Given the description of an element on the screen output the (x, y) to click on. 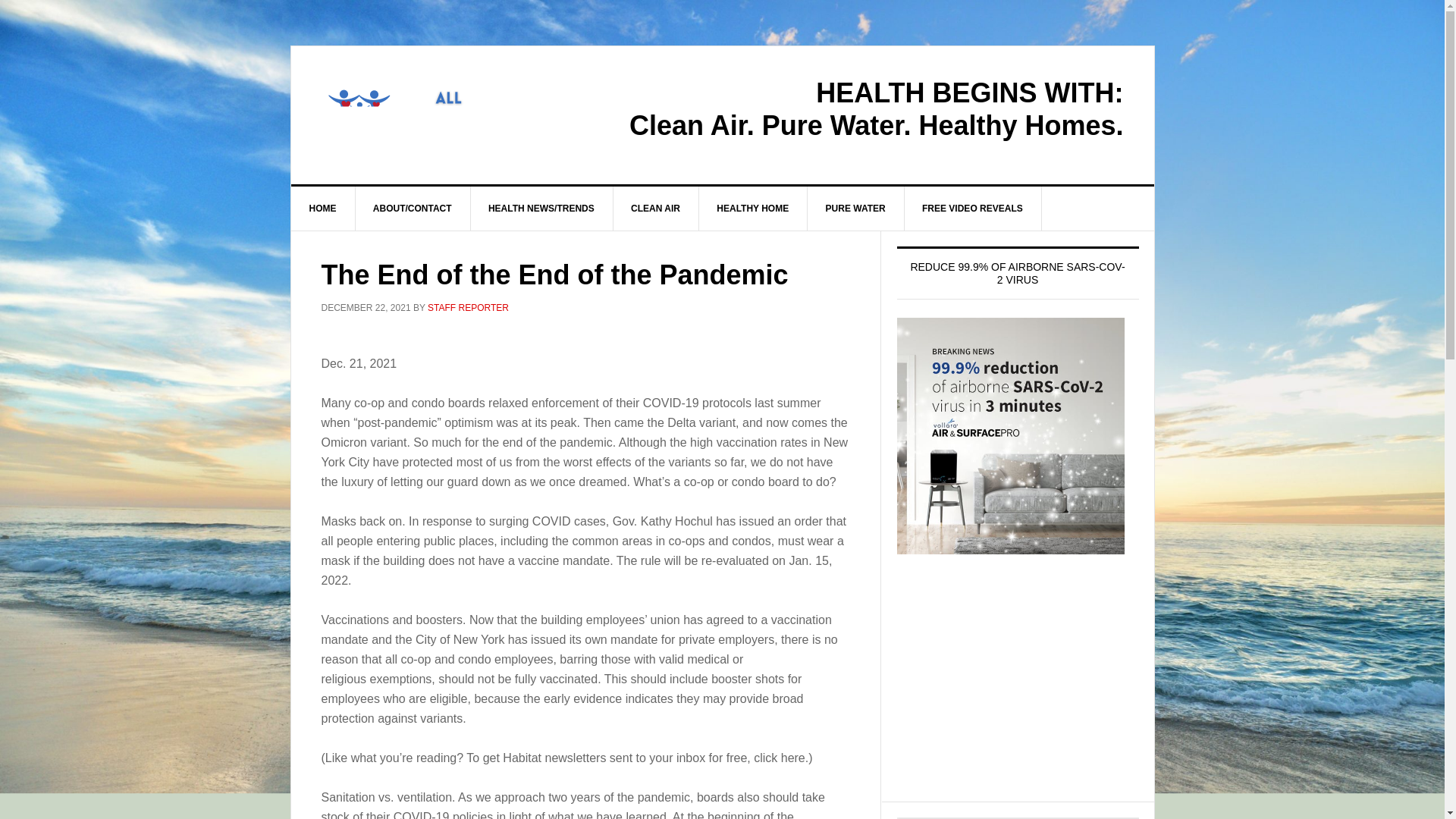
STAFF REPORTER (468, 307)
ALL HEALTHY NEWS (419, 110)
PURE WATER (856, 208)
FREE VIDEO REVEALS (973, 208)
HOME (323, 208)
HEALTHY HOME (753, 208)
CLEAN AIR (655, 208)
Advertisement (1017, 691)
